Given the description of an element on the screen output the (x, y) to click on. 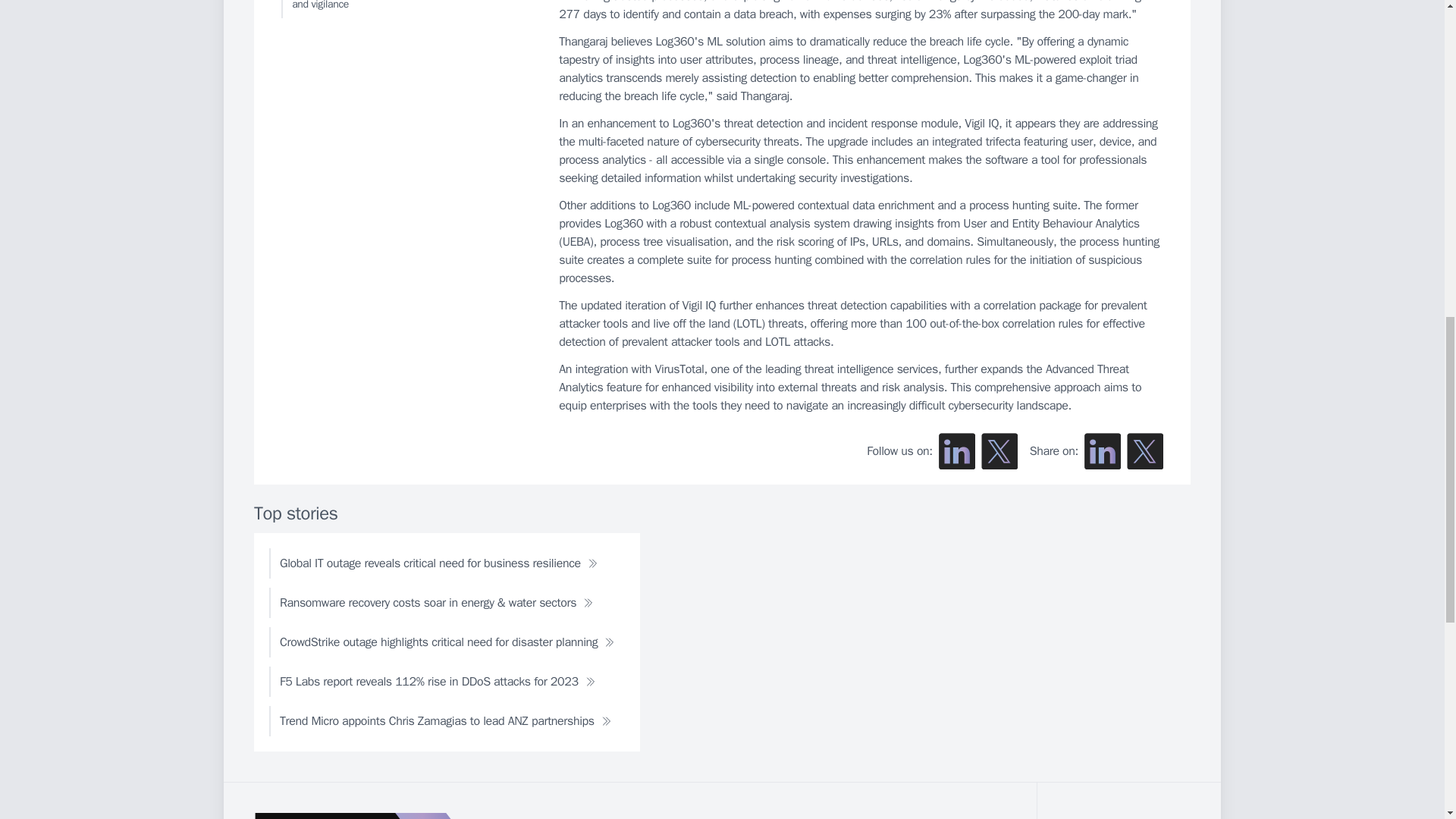
Trend Micro appoints Chris Zamagias to lead ANZ partnerships (445, 720)
